Given the description of an element on the screen output the (x, y) to click on. 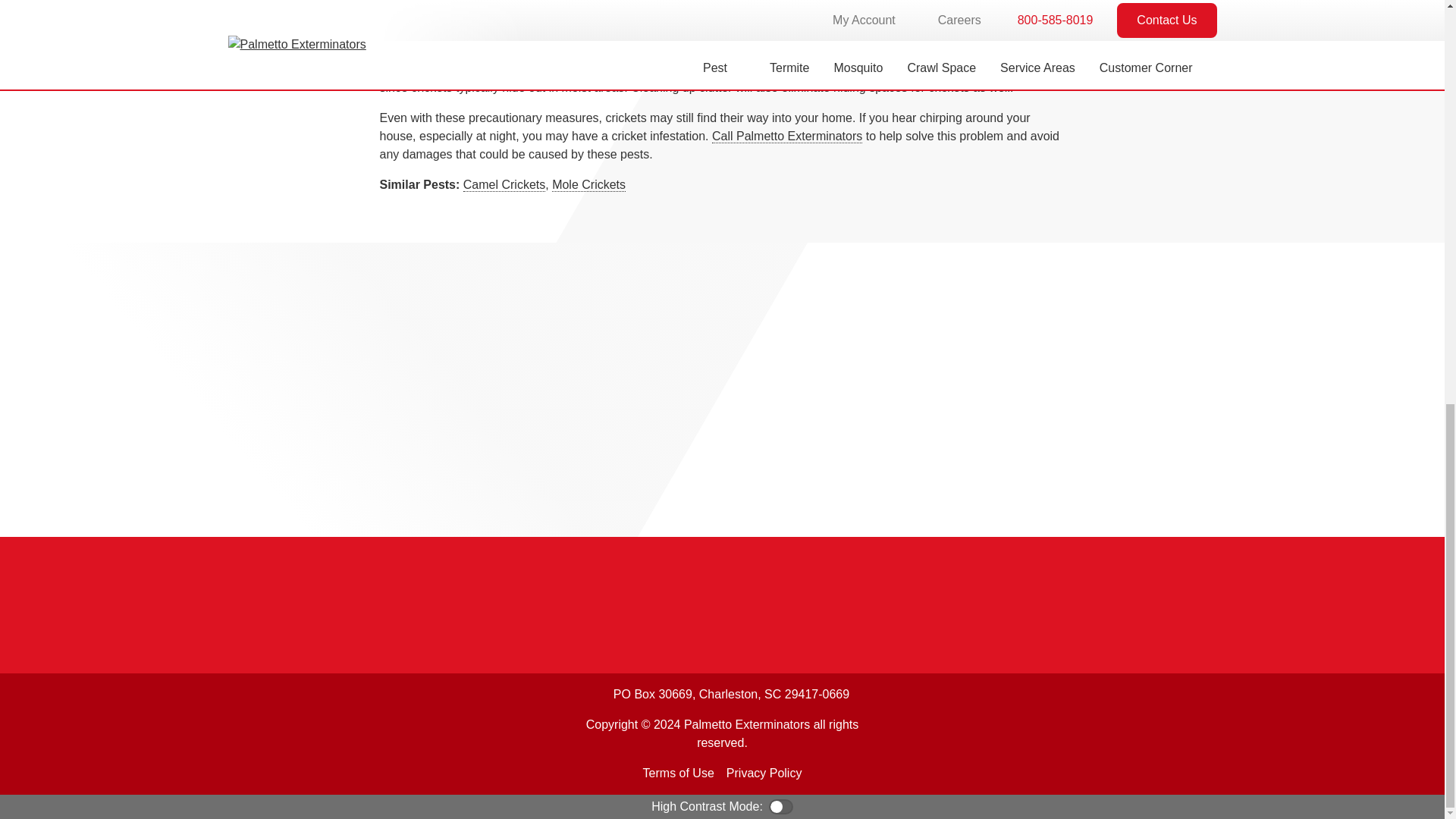
LinkedIn (321, 733)
Facebook (245, 733)
YouTube (283, 733)
Call Palmetto Exterminators (786, 136)
Mole Crickets (588, 184)
Instagram (359, 733)
Instagram (359, 733)
Camel Crickets (503, 184)
PO Box 30669, Charleston, SC 29417-0669 (721, 694)
YouTube (283, 733)
